Given the description of an element on the screen output the (x, y) to click on. 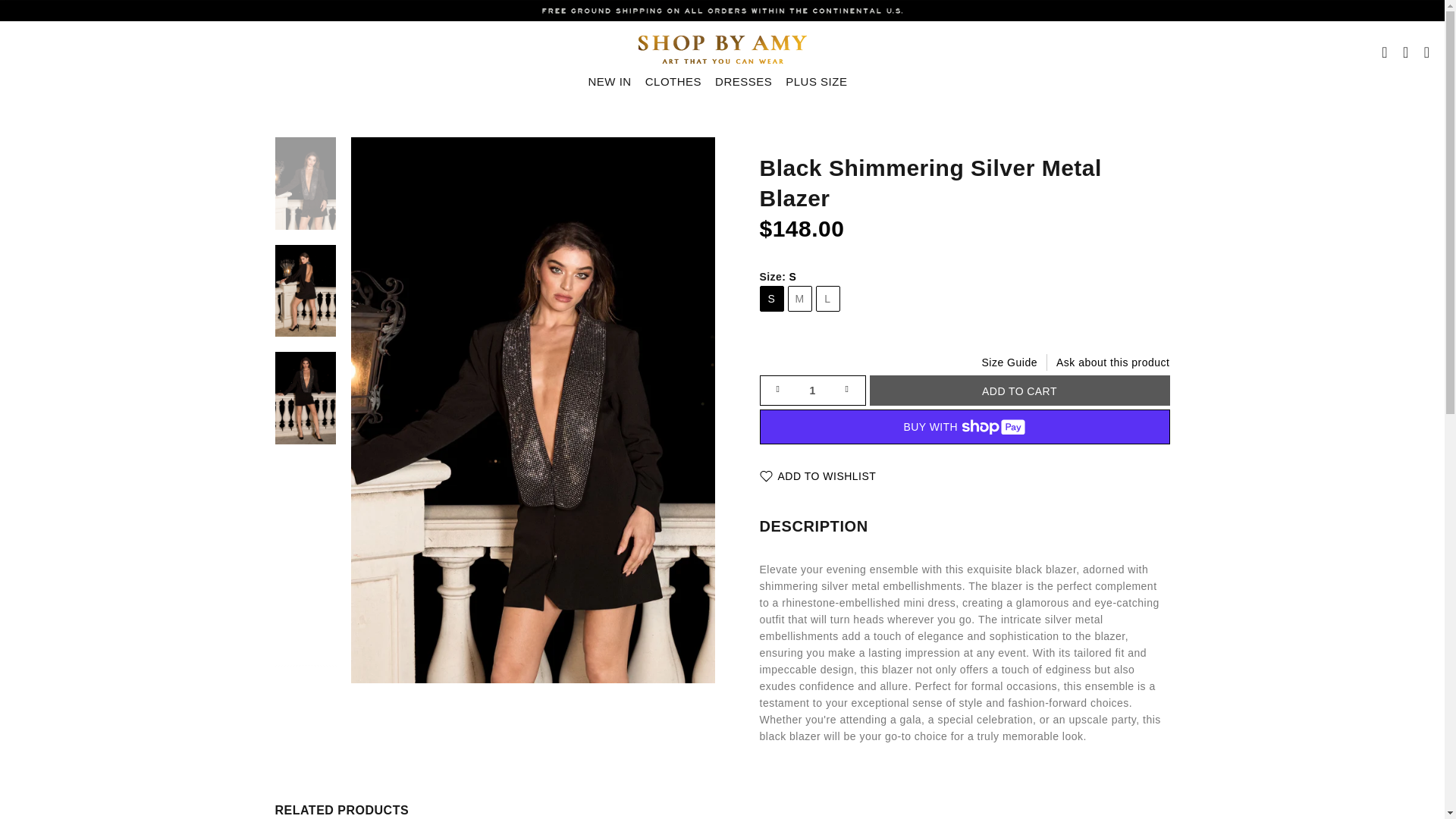
1 (813, 390)
